Given the description of an element on the screen output the (x, y) to click on. 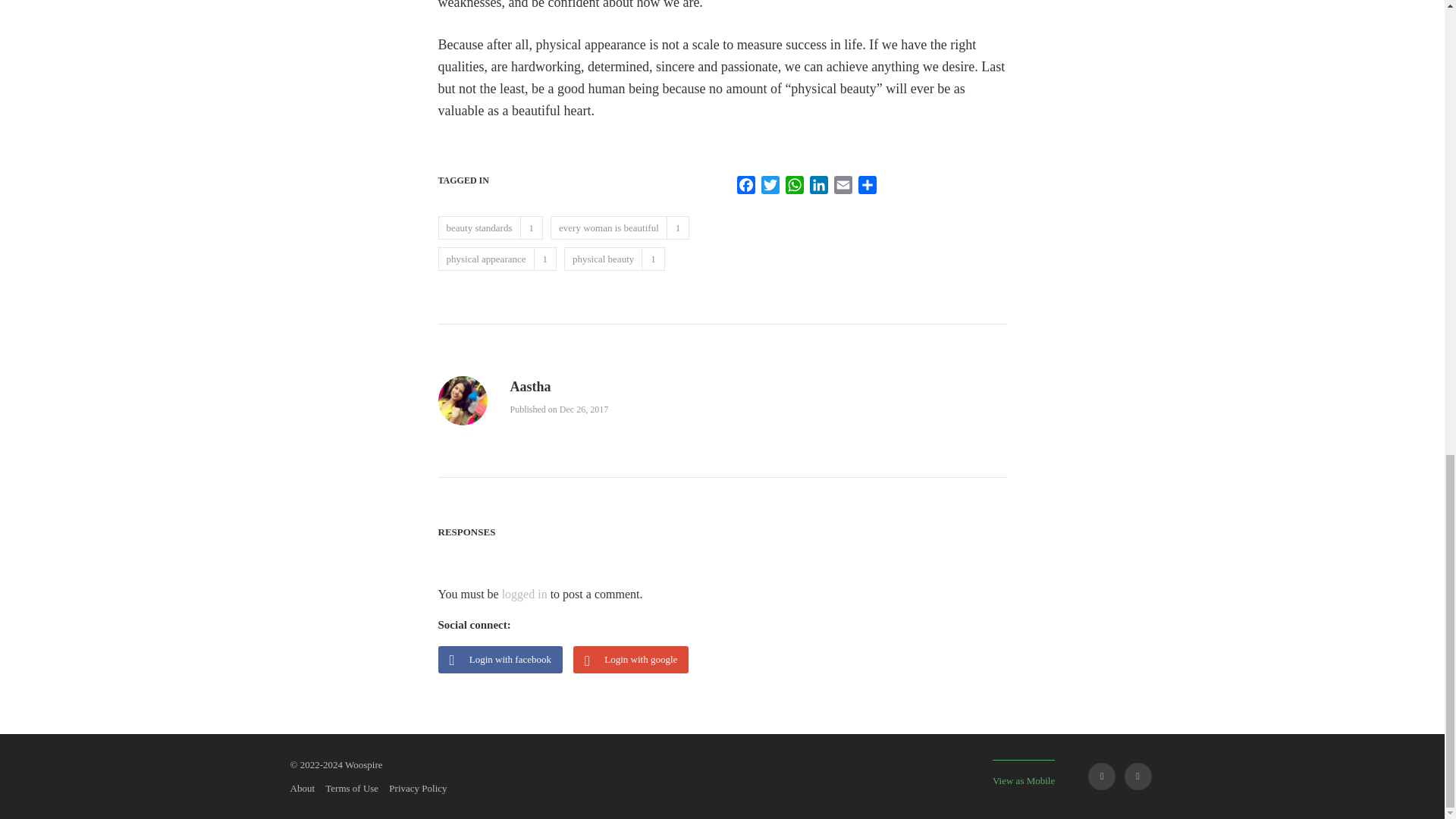
Login with google (634, 661)
Twitter (770, 187)
WhatsApp (794, 187)
physical appearance1 (497, 259)
Login with facebook (505, 661)
Email (843, 187)
View all posts by Aastha (529, 386)
4:34 pm (583, 409)
LinkedIn (818, 187)
View all posts by Aastha (462, 414)
View as Mobile (1023, 773)
physical beauty1 (614, 259)
beauty standards1 (490, 227)
Facebook (745, 187)
every woman is beautiful1 (619, 227)
